Given the description of an element on the screen output the (x, y) to click on. 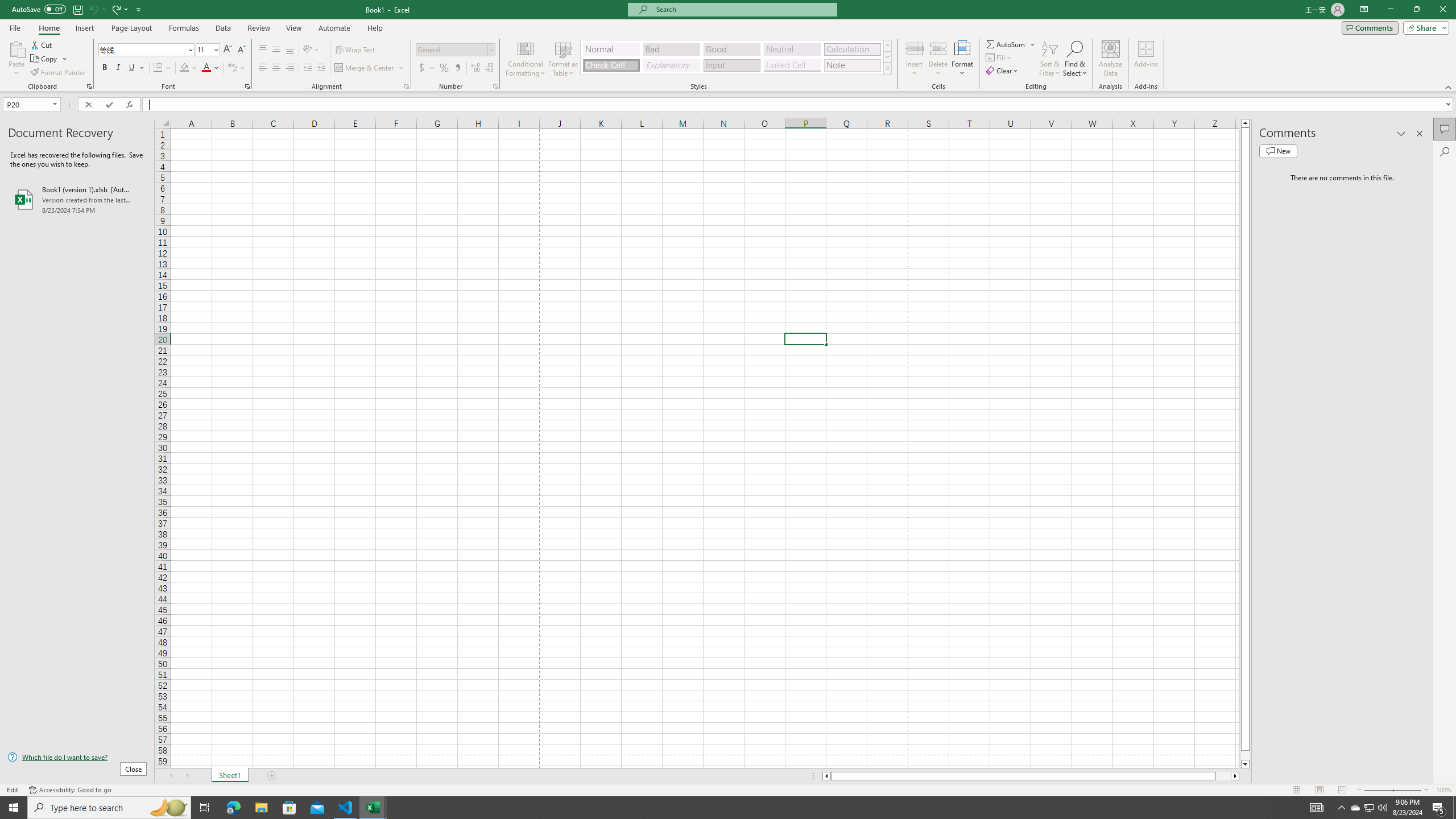
Wrap Text (355, 49)
Add Sheet (272, 775)
Page right (1222, 775)
File Tab (15, 27)
Scroll Right (187, 775)
Underline (136, 67)
Accounting Number Format (422, 67)
Merge & Center (369, 67)
Delete (938, 58)
Increase Decimal (474, 67)
Bottom Border (157, 67)
Class: MsoCommandBar (728, 45)
Insert (914, 58)
Review (258, 28)
